Given the description of an element on the screen output the (x, y) to click on. 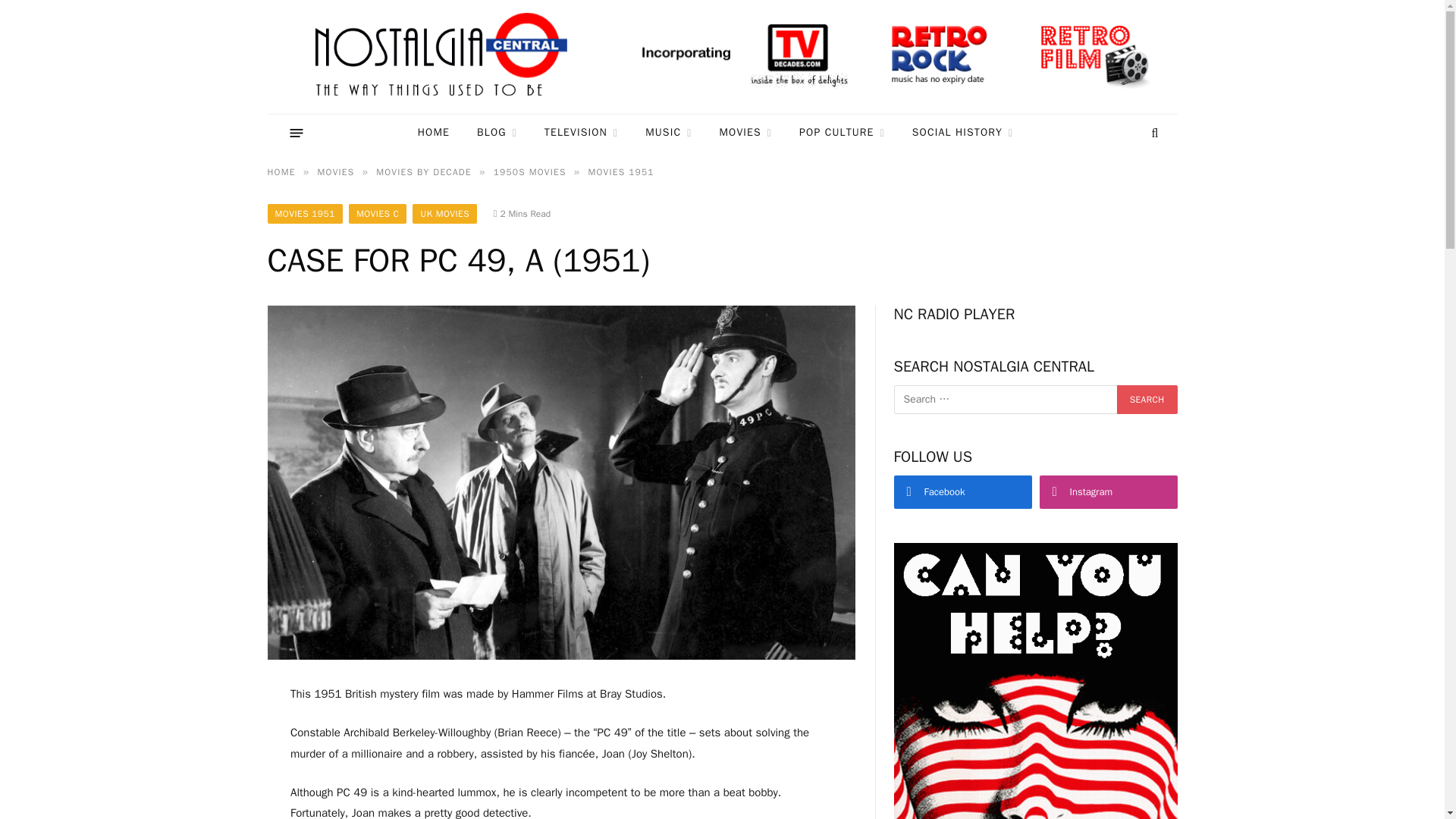
Search (1146, 399)
Search (1146, 399)
HOME (433, 132)
Nostalgia Central (444, 56)
TELEVISION (581, 132)
BLOG (497, 132)
